Given the description of an element on the screen output the (x, y) to click on. 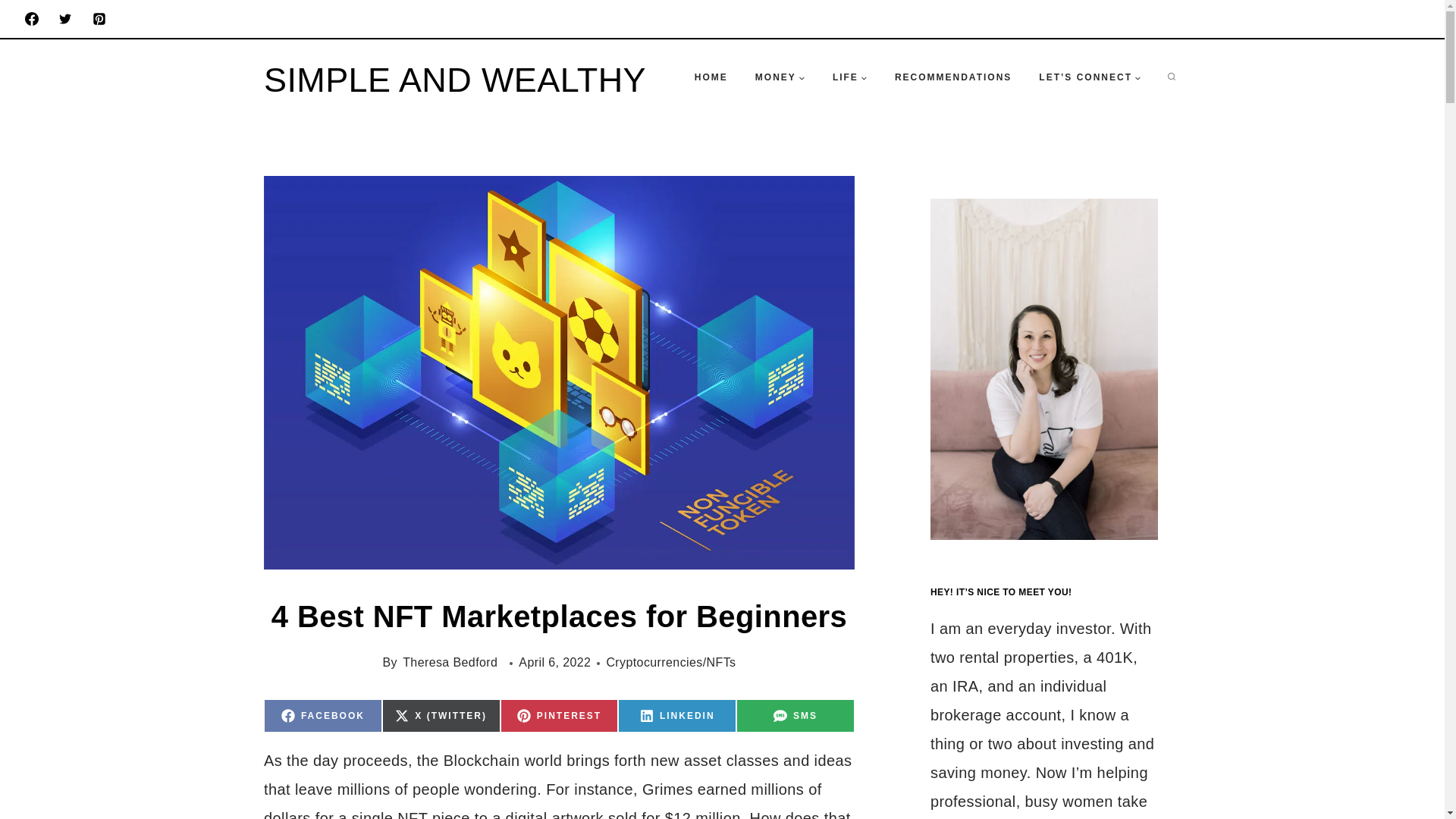
LIFE (559, 715)
MONEY (322, 715)
RECOMMENDATIONS (849, 77)
4 Best NFT Marketplaces for Beginners 1 (795, 715)
Theresa Bedford (779, 77)
SIMPLE AND WEALTHY (676, 715)
HOME (952, 77)
